Given the description of an element on the screen output the (x, y) to click on. 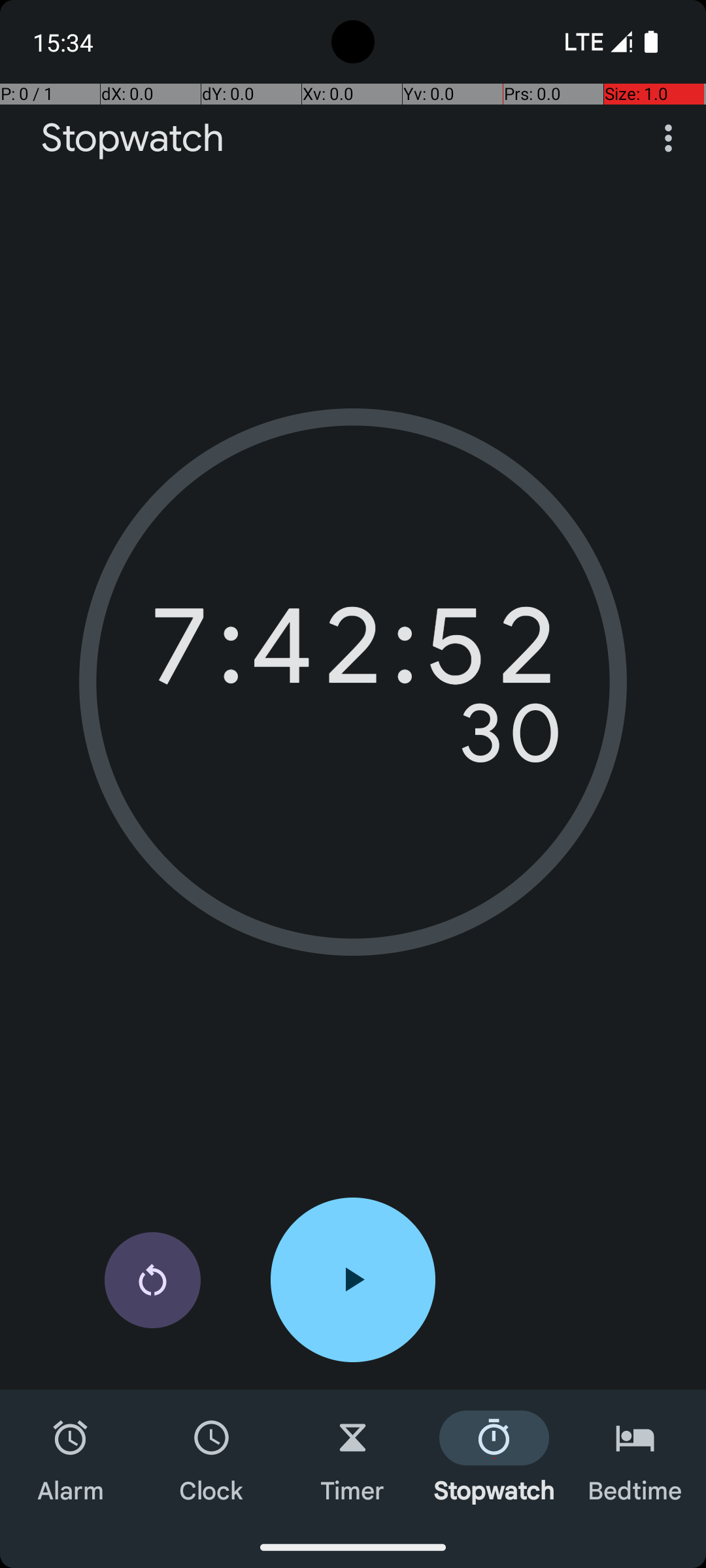
Start Element type: android.widget.Button (352, 1279)
7:42:52 Element type: android.widget.TextView (352, 652)
